Given the description of an element on the screen output the (x, y) to click on. 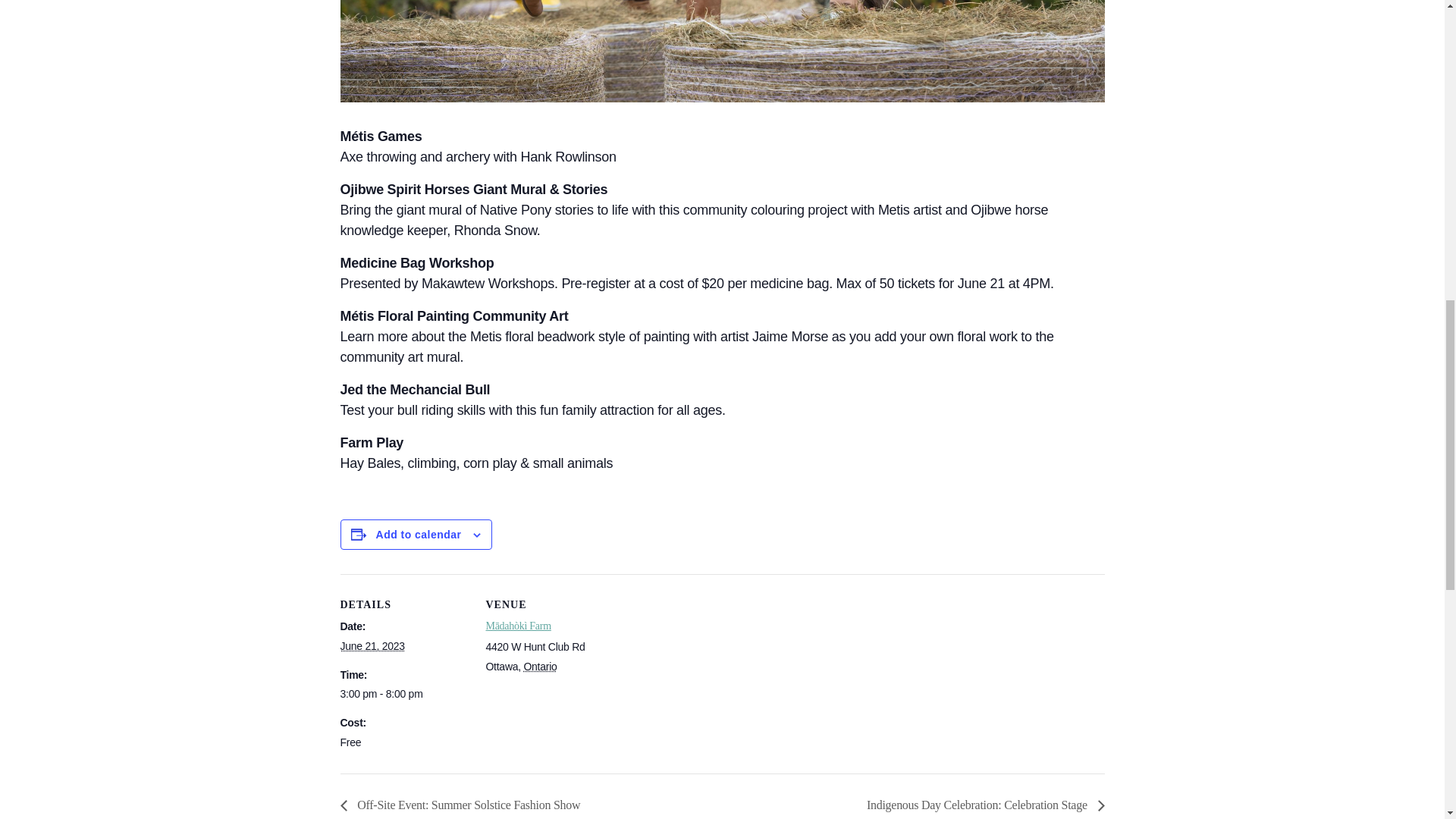
Ontario (539, 666)
2023-06-21 (403, 693)
2023-06-21 (371, 645)
